Given the description of an element on the screen output the (x, y) to click on. 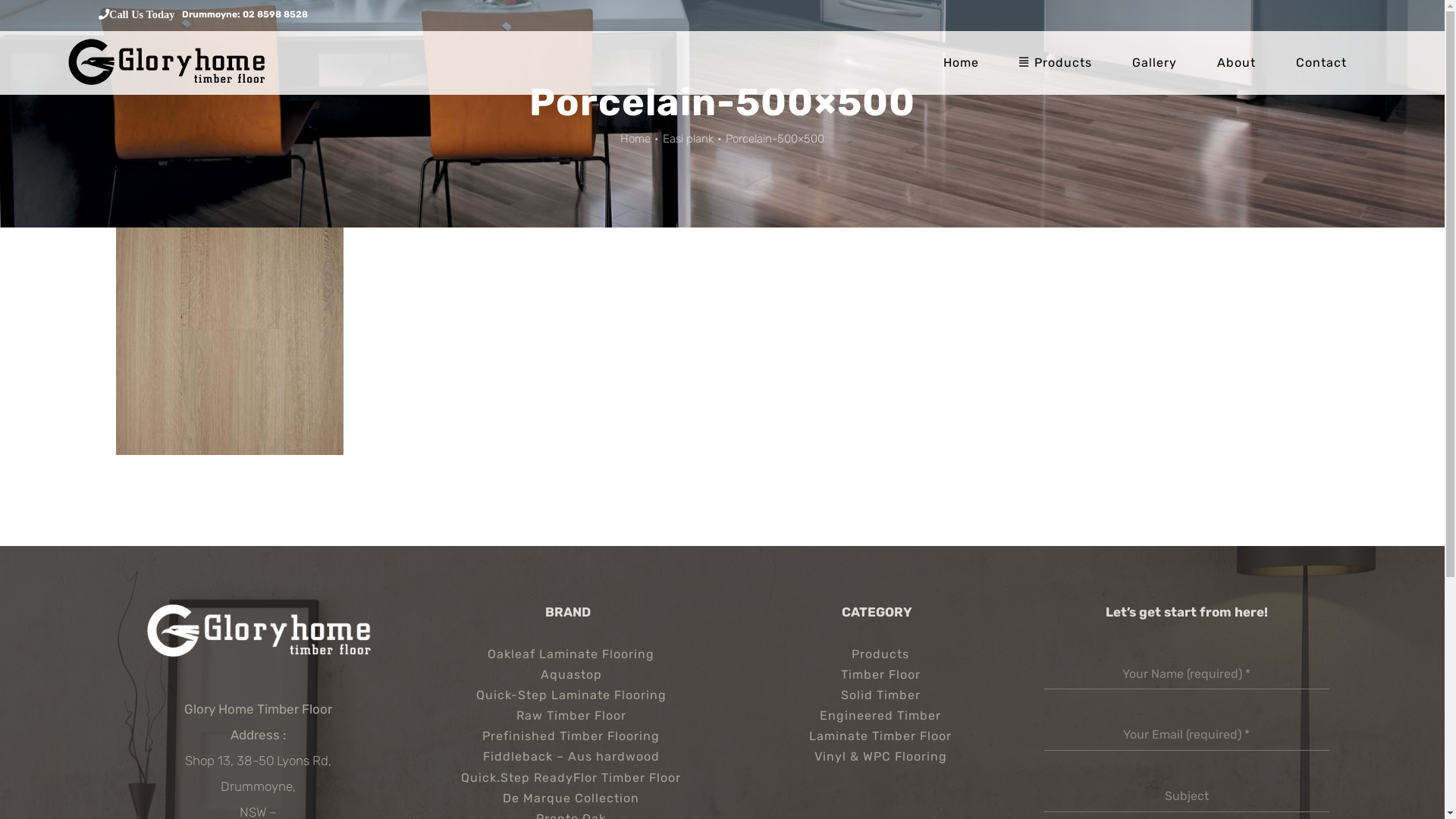
Home Element type: text (635, 138)
Engineered Timber Element type: text (876, 716)
Products Element type: text (1055, 62)
Timber Floor Element type: text (876, 675)
Aquastop Element type: text (566, 675)
Vinyl & WPC Flooring Element type: text (876, 756)
About Element type: text (1236, 62)
De Marque Collection Element type: text (566, 798)
Quick-Step Laminate Flooring Element type: text (566, 695)
Raw Timber Floor Element type: text (566, 716)
Prefinished Timber Flooring Element type: text (566, 736)
Contact Element type: text (1321, 62)
Oakleaf Laminate Flooring Element type: text (566, 654)
Home Element type: text (960, 62)
Solid Timber Element type: text (876, 695)
Drummoyne: 02 8598 8528 Element type: text (244, 14)
Gallery Element type: text (1154, 62)
Products Element type: text (876, 654)
Laminate Timber Floor Element type: text (876, 736)
Quick.Step ReadyFlor Timber Floor Element type: text (566, 778)
Easi plank Element type: text (687, 138)
